Given the description of an element on the screen output the (x, y) to click on. 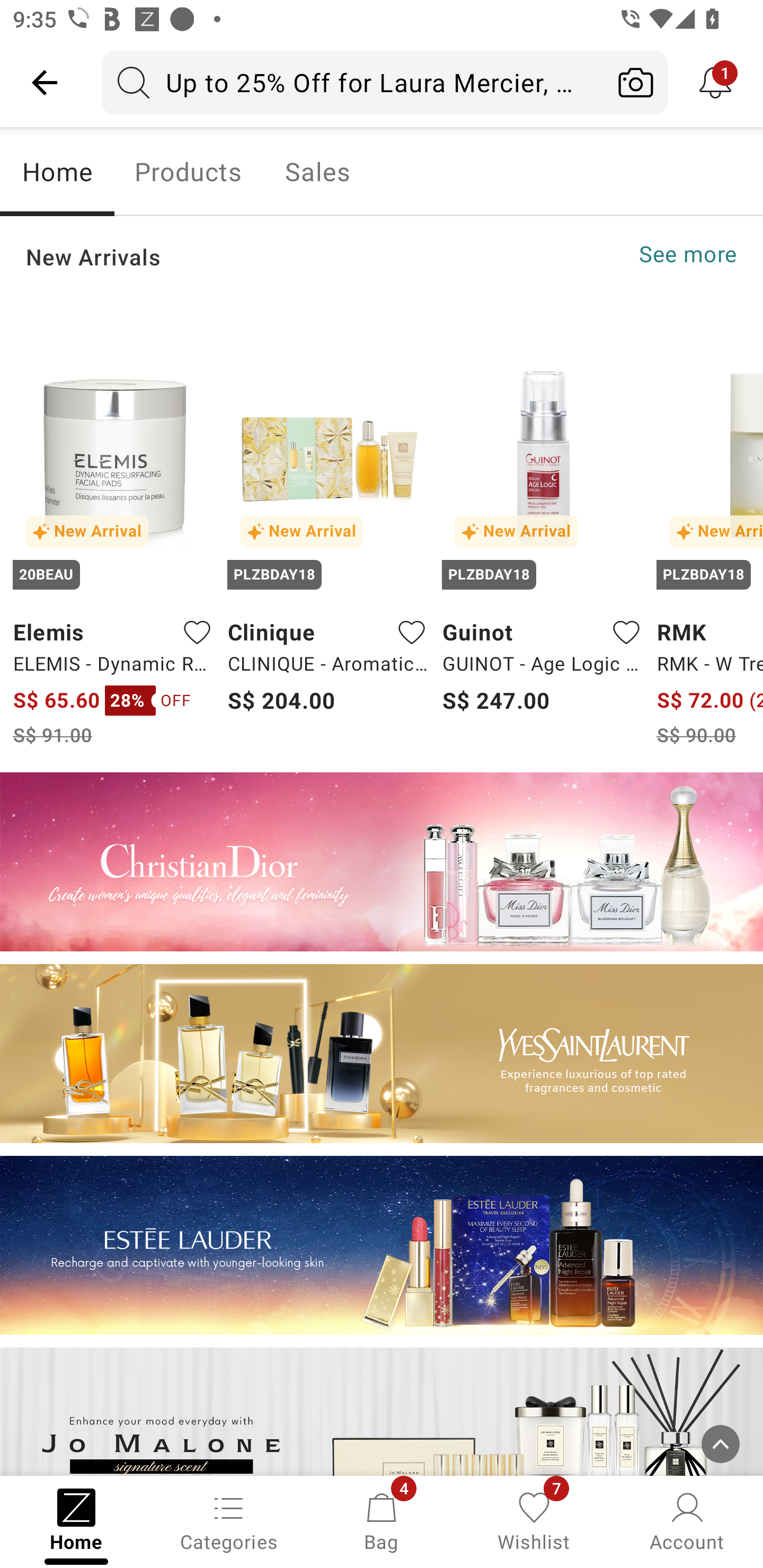
Navigate up (44, 82)
Products (187, 171)
Sales (317, 171)
See more (687, 254)
Categories (228, 1519)
Bag, 4 new notifications Bag (381, 1519)
Wishlist, 7 new notifications Wishlist (533, 1519)
Account (686, 1519)
